Given the description of an element on the screen output the (x, y) to click on. 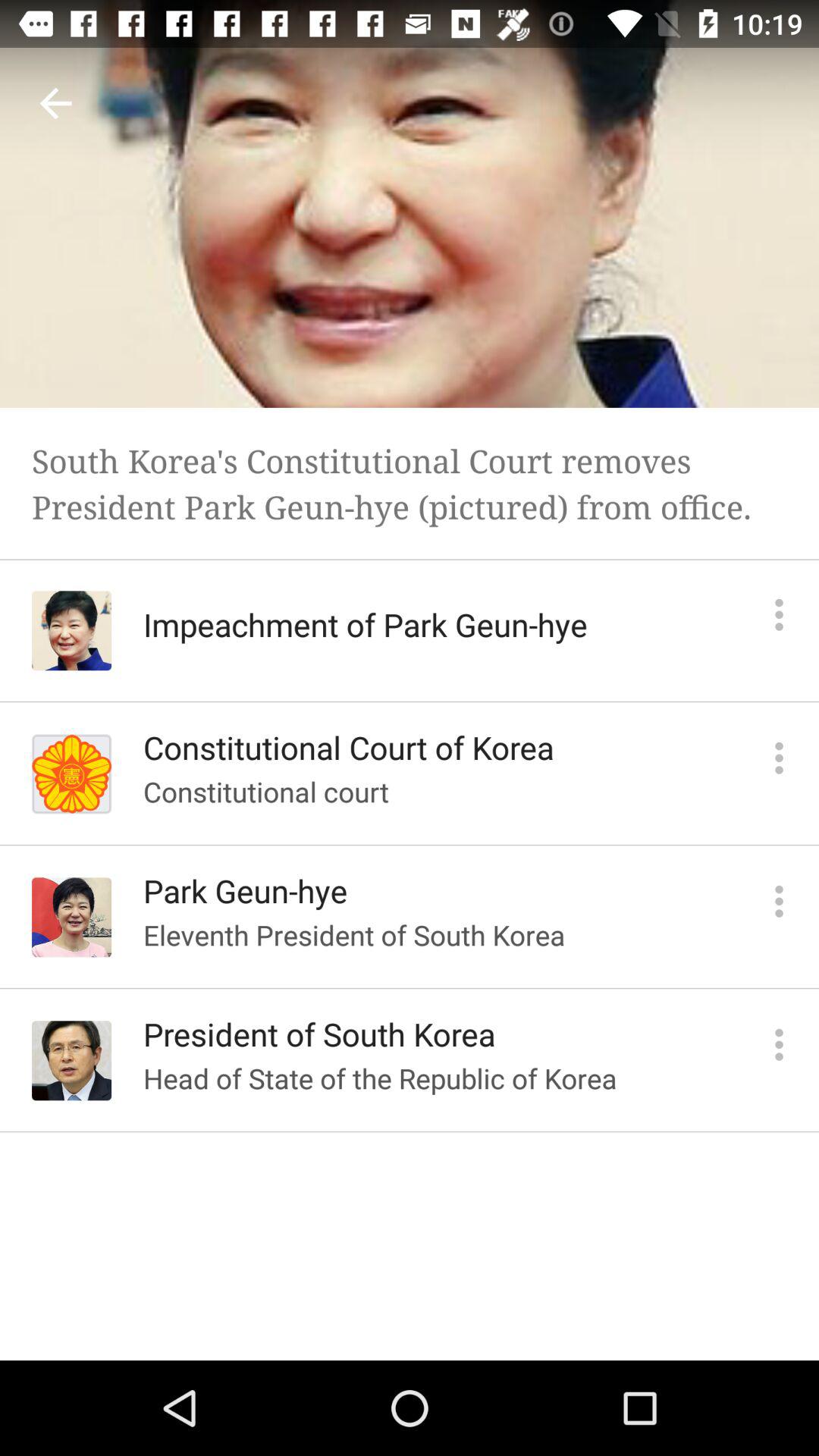
more info on constitutional court of korea (779, 757)
